Given the description of an element on the screen output the (x, y) to click on. 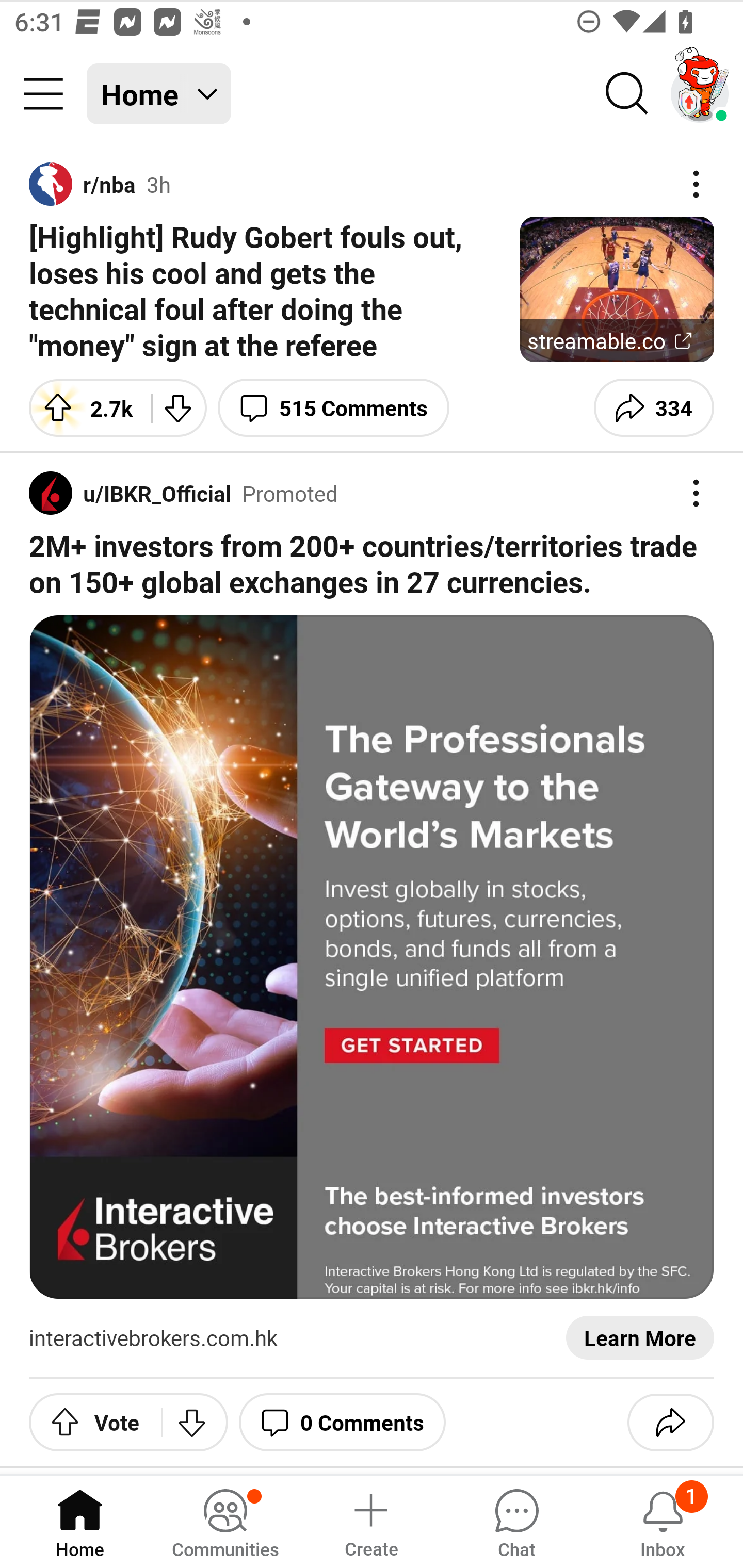
Community menu (43, 93)
Home Home feed (158, 93)
Search (626, 93)
TestAppium002 account (699, 93)
Home (80, 1520)
Communities, has notifications Communities (225, 1520)
Create a post Create (370, 1520)
Chat (516, 1520)
Inbox, has 1 notification 1 Inbox (662, 1520)
